Given the description of an element on the screen output the (x, y) to click on. 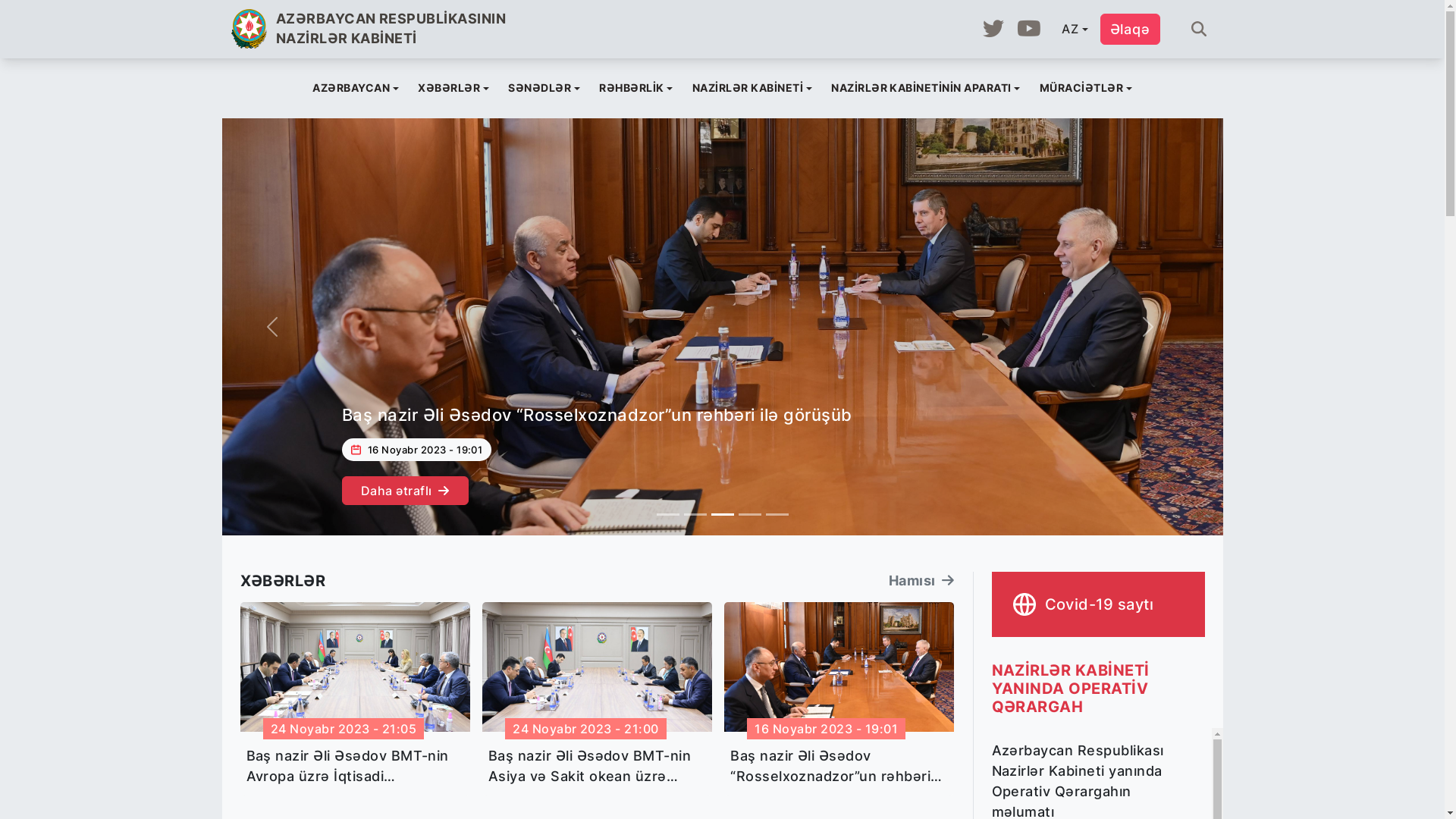
AZ Element type: text (1073, 29)
